Given the description of an element on the screen output the (x, y) to click on. 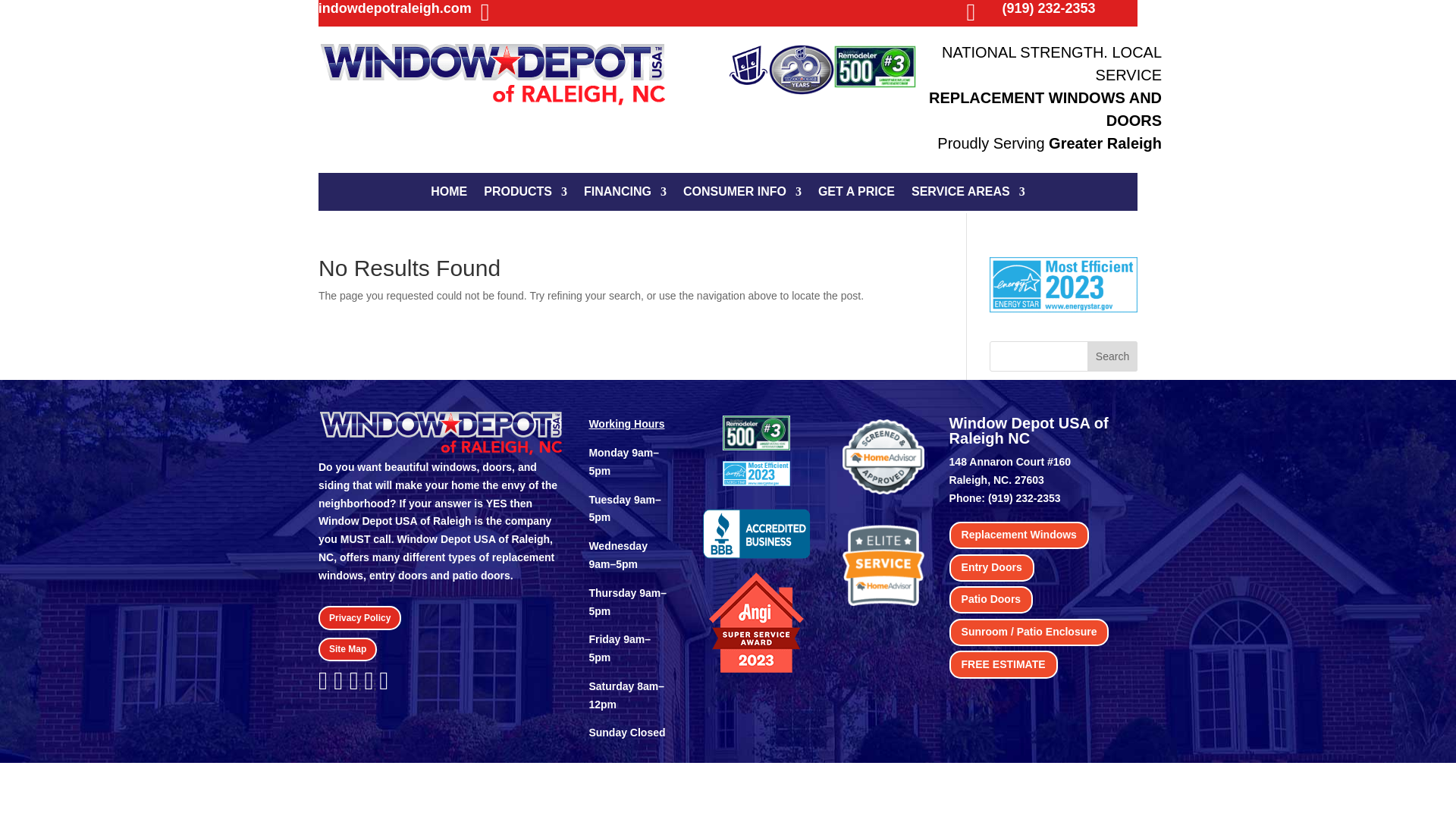
SERVICE AREAS (968, 194)
20243 (756, 534)
window depot raleigh nc logo (441, 433)
soap-solid-border (883, 456)
HOME (448, 194)
elite-solid-border (883, 565)
CONSUMER INFO (742, 194)
GET A PRICE (856, 194)
window depot raleigh nc logo (493, 75)
Search (1112, 356)
FINANCING (624, 194)
PRODUCTS (525, 194)
